Given the description of an element on the screen output the (x, y) to click on. 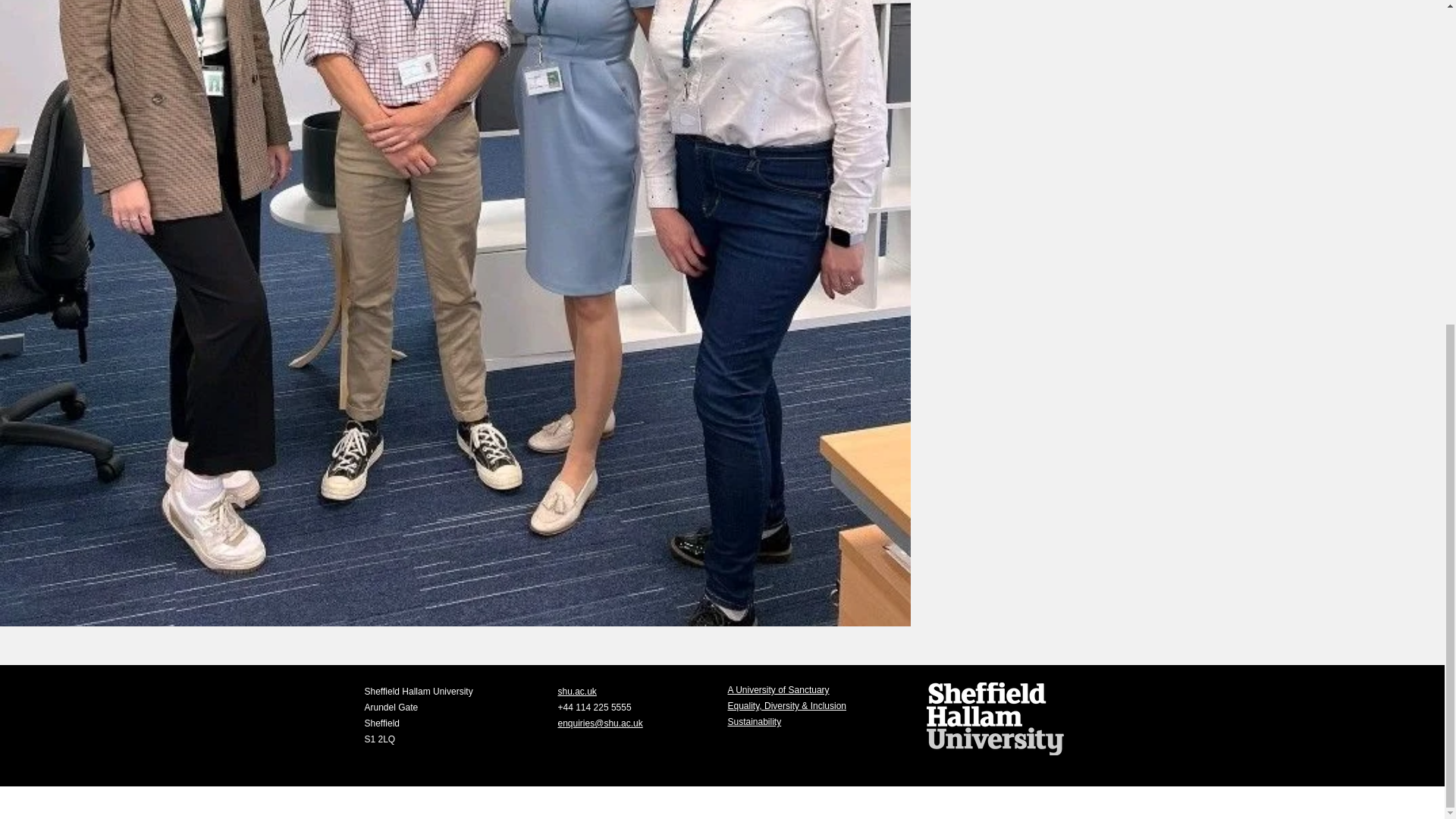
shu.ac.uk (576, 691)
Sustainability (754, 721)
A University of Sanctuary (778, 689)
